Given the description of an element on the screen output the (x, y) to click on. 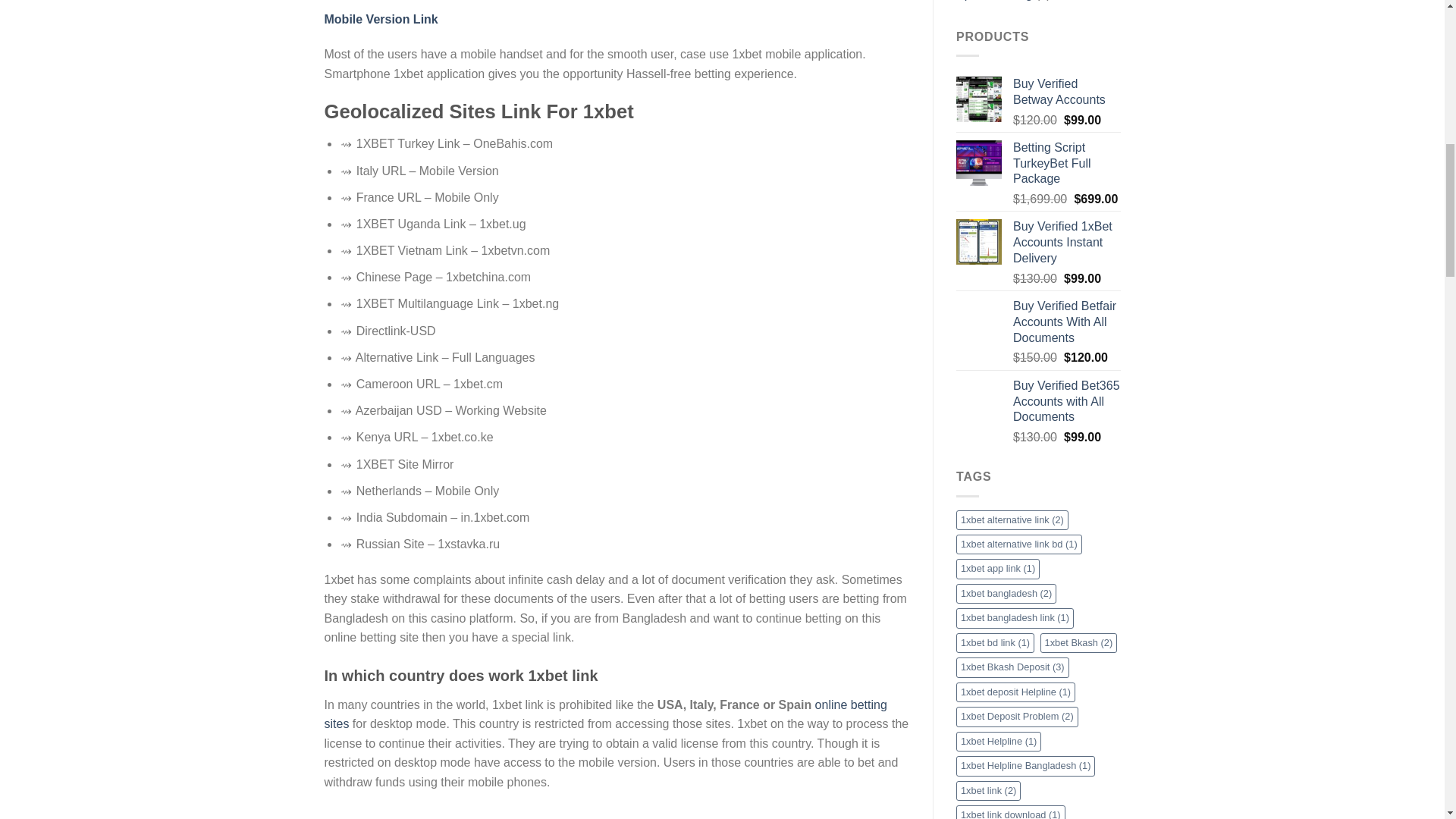
online betting sites (605, 714)
Mobile Version Link (381, 19)
